Given the description of an element on the screen output the (x, y) to click on. 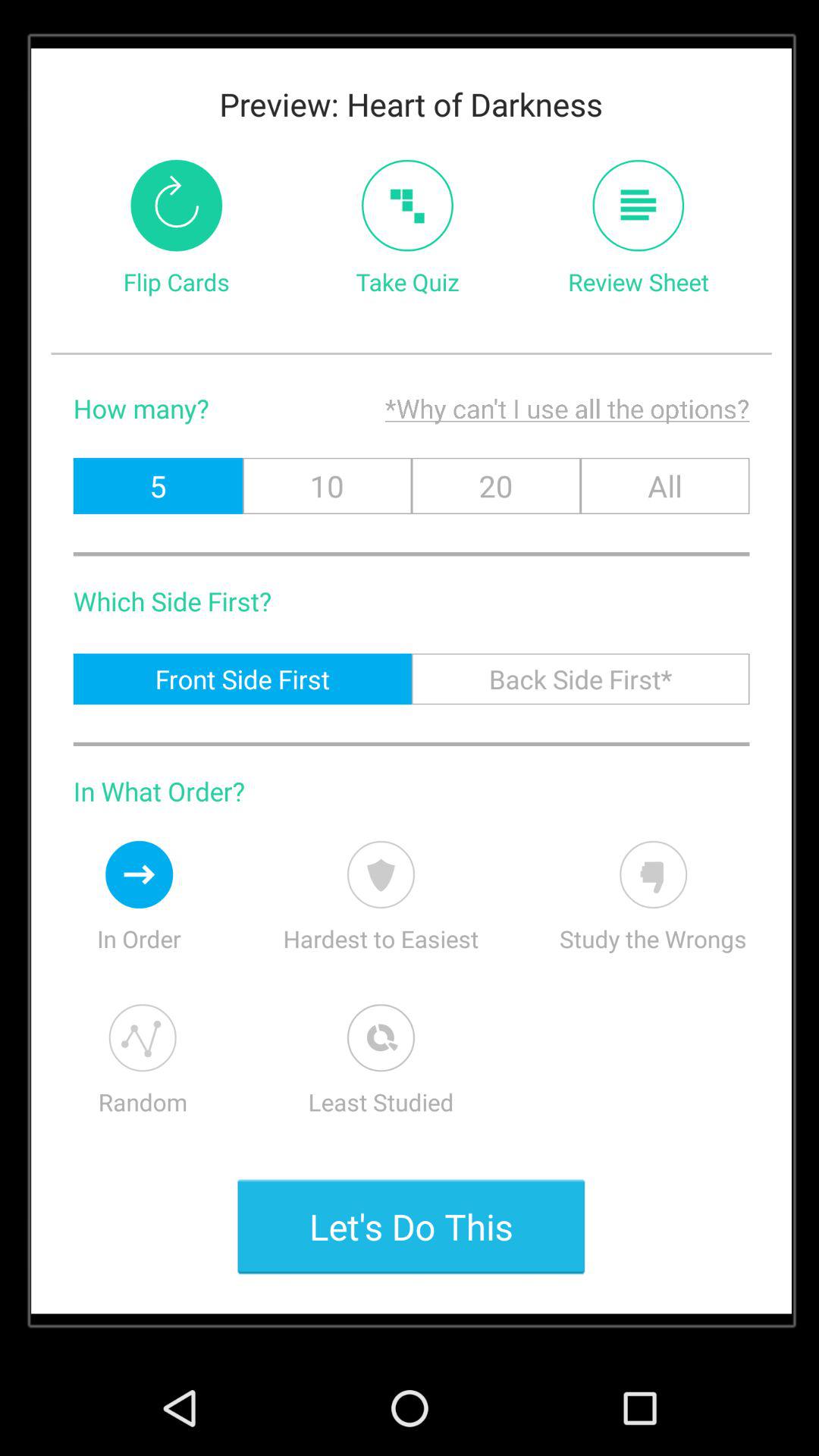
launch item to the left of hardest to easiest icon (139, 874)
